Given the description of an element on the screen output the (x, y) to click on. 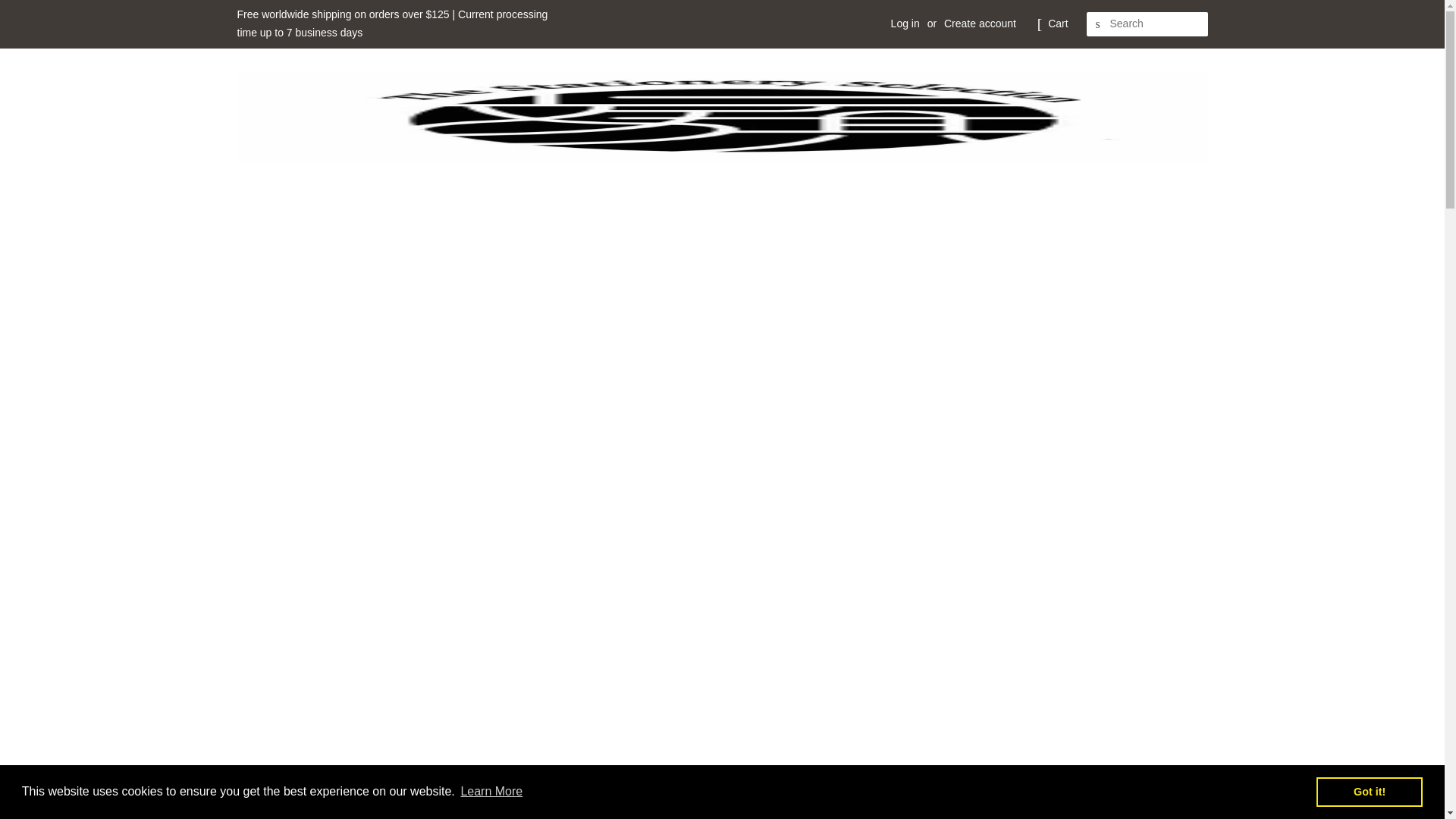
SEARCH (1097, 24)
Create account (979, 23)
Got it! (1369, 791)
Log in (905, 23)
Learn More (491, 791)
Cart (1057, 24)
